Given the description of an element on the screen output the (x, y) to click on. 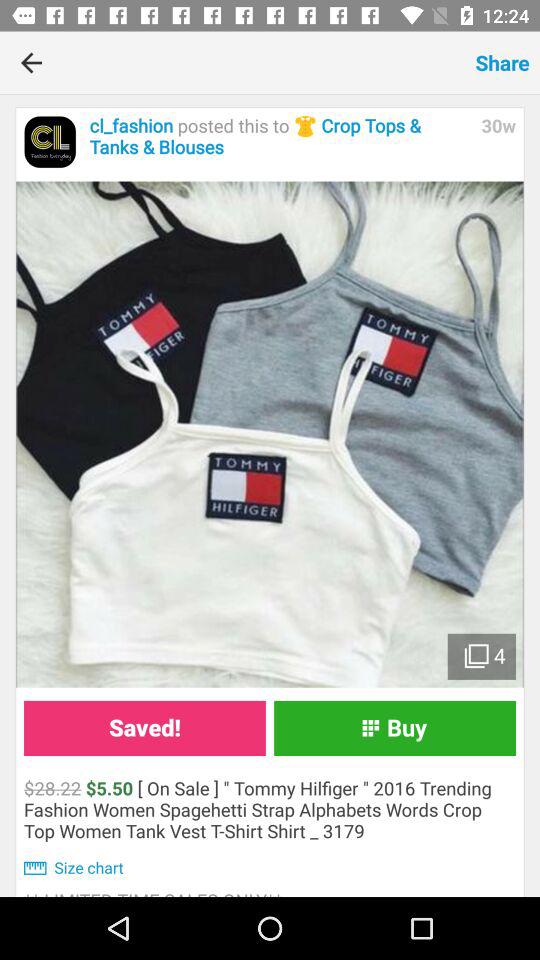
press the item next to the share icon (263, 62)
